Given the description of an element on the screen output the (x, y) to click on. 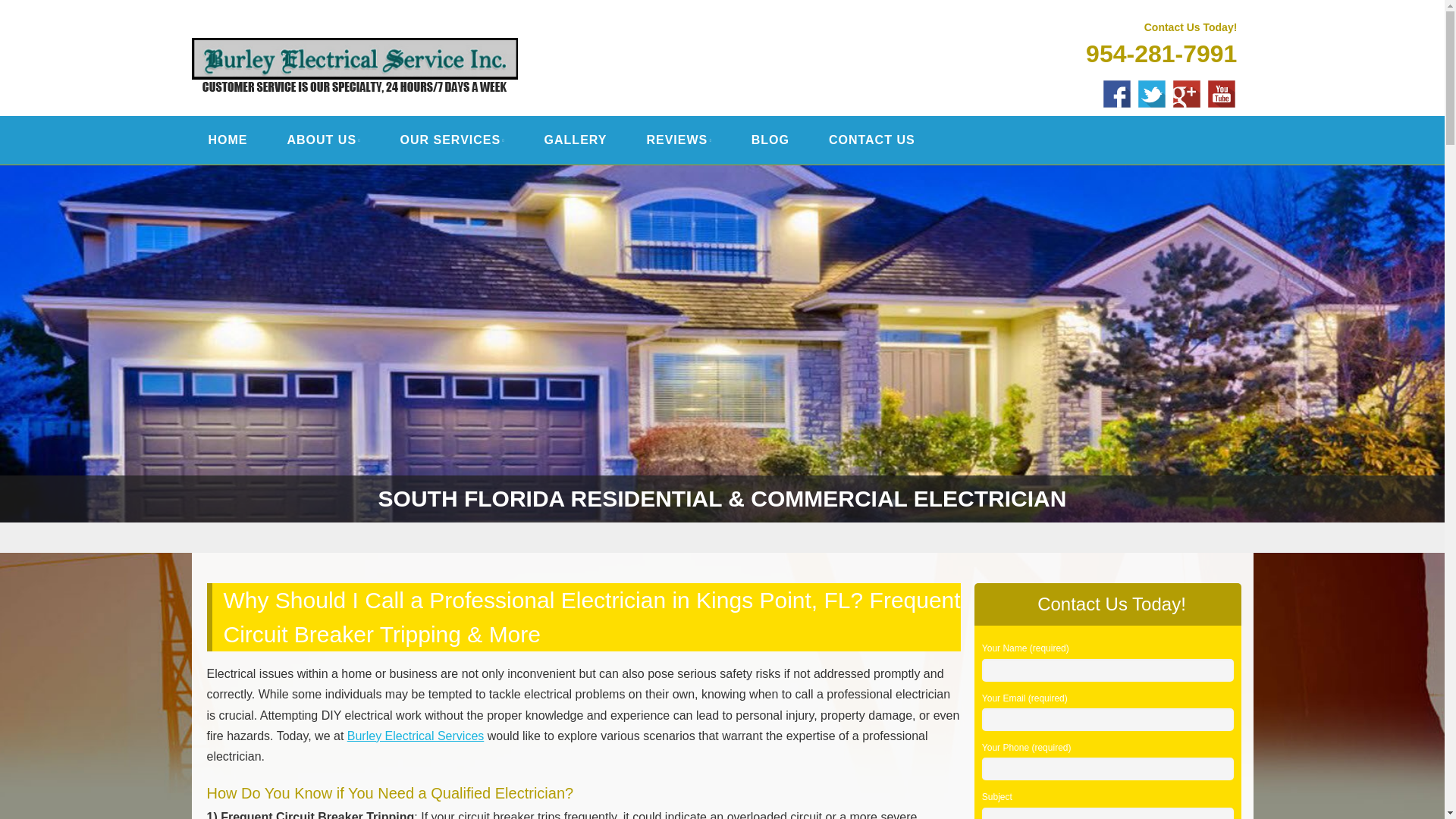
BURLEY ELECTRICAL SERVICES (428, 32)
HOME (227, 140)
ABOUT US (323, 140)
BLOG (770, 140)
CONTACT US (872, 140)
OUR SERVICES (452, 140)
REVIEWS (679, 140)
GALLERY (575, 140)
Burley Electrical Services (428, 32)
